Given the description of an element on the screen output the (x, y) to click on. 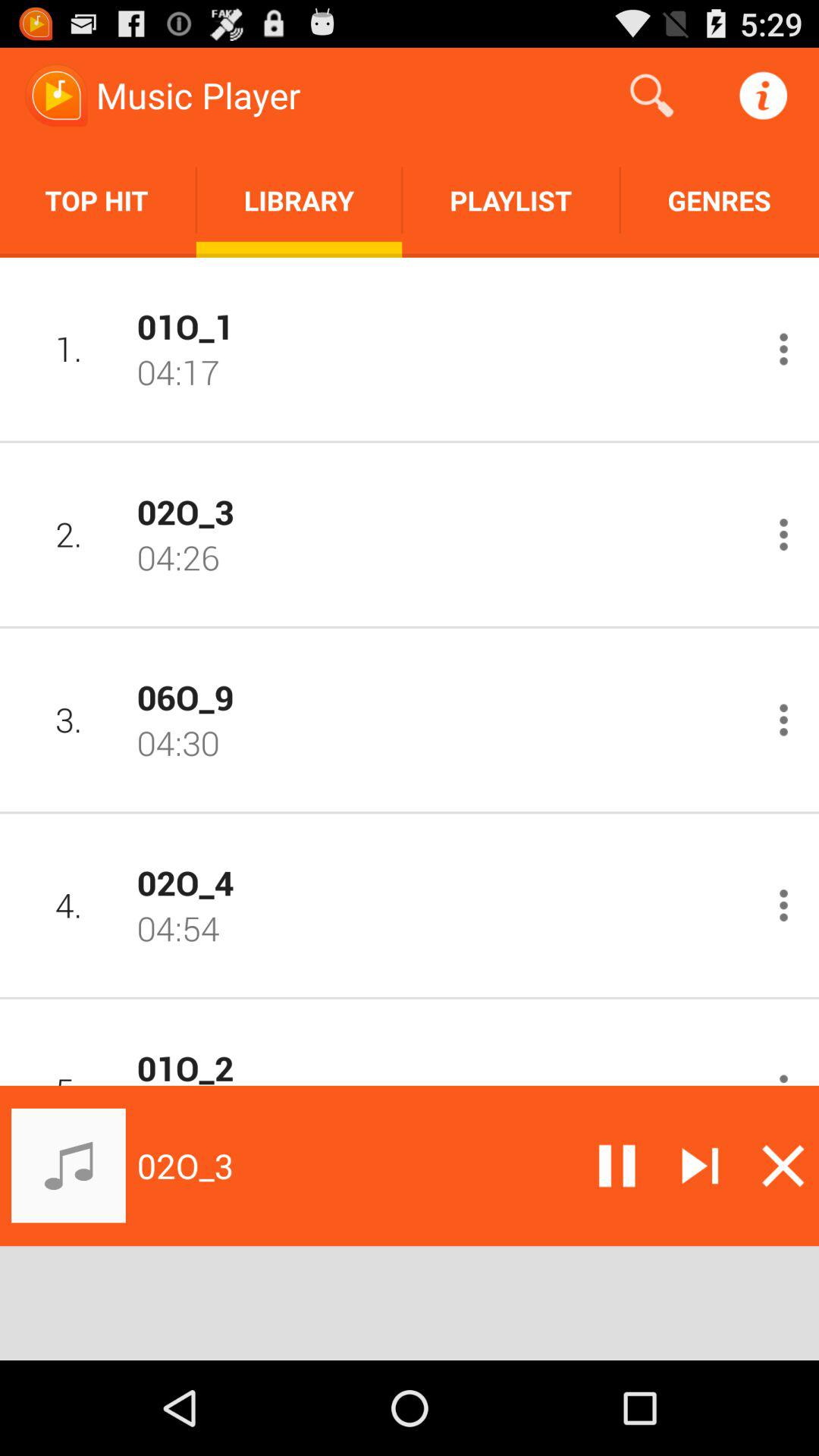
settings (783, 534)
